Given the description of an element on the screen output the (x, y) to click on. 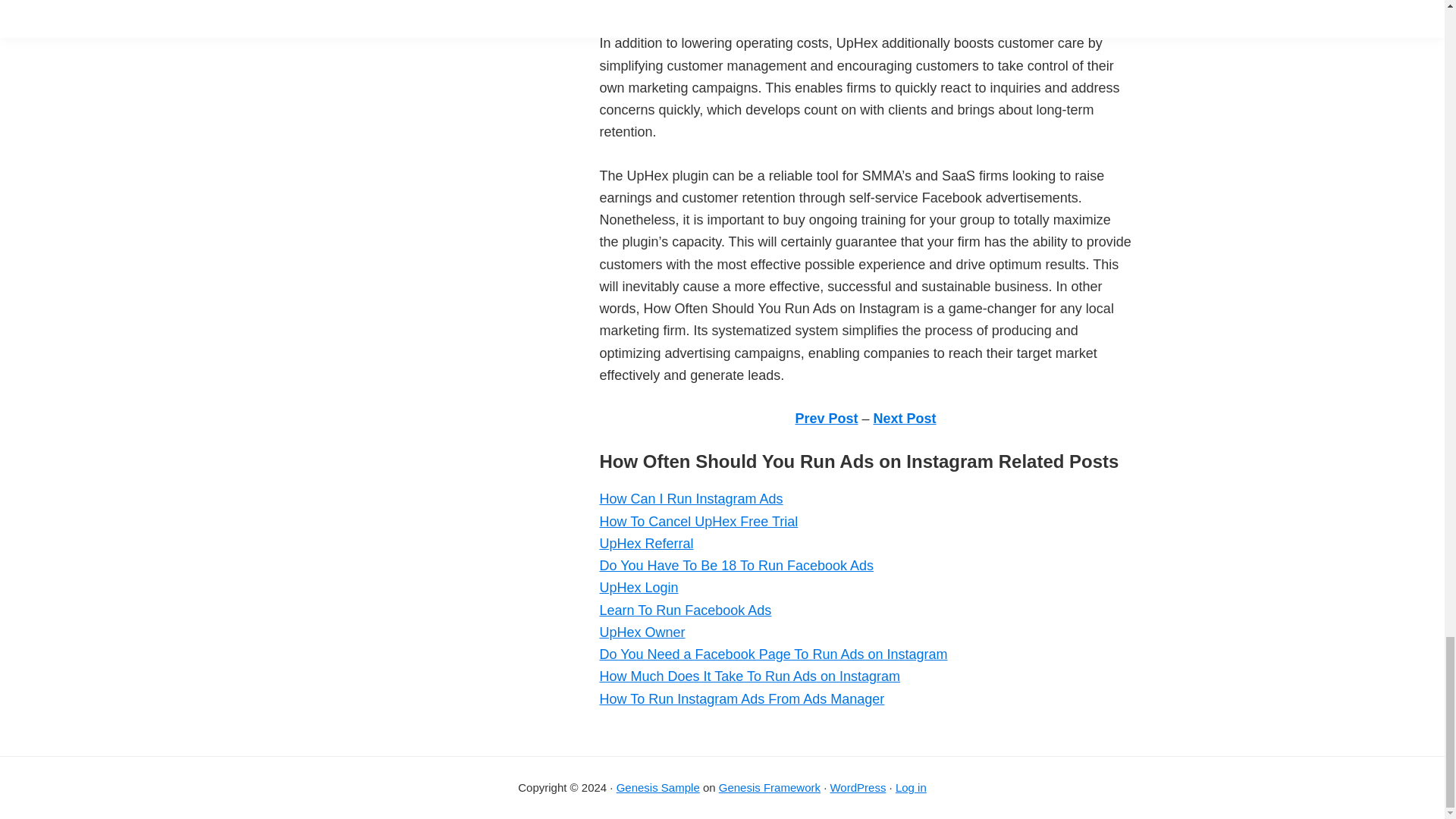
Genesis Sample (657, 787)
How To Cancel UpHex Free Trial (697, 521)
How To Run Instagram Ads From Ads Manager (740, 698)
How Can I Run Instagram Ads (690, 498)
Learn To Run Facebook Ads (684, 609)
UpHex Login (638, 587)
How Can I Run Instagram Ads (690, 498)
How Much Does It Take To Run Ads on Instagram (748, 676)
UpHex Owner (641, 631)
How Much Does It Take To Run Ads on Instagram (748, 676)
